Given the description of an element on the screen output the (x, y) to click on. 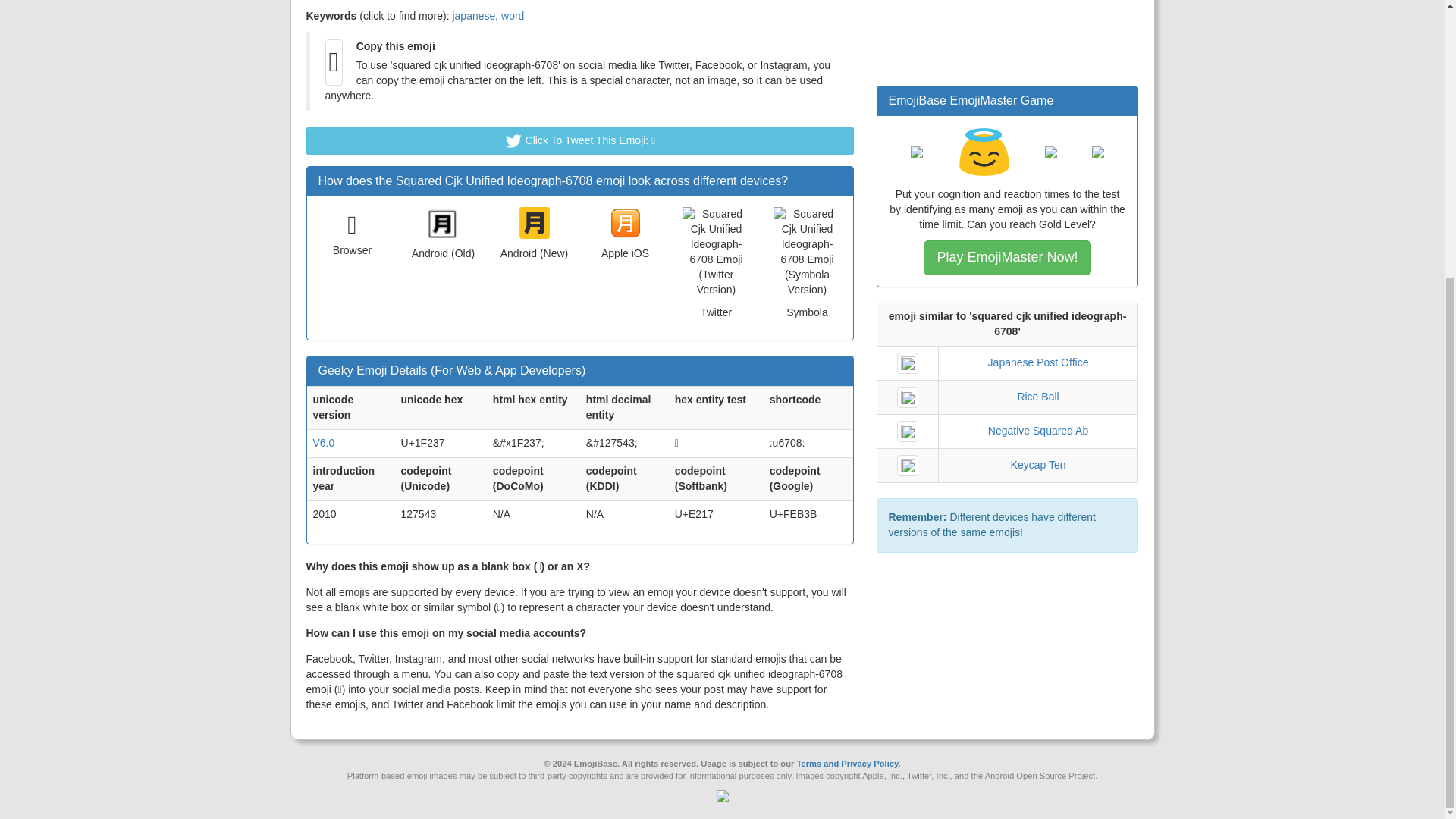
Japanese Post Office (1038, 362)
Negative Squared Ab (1037, 430)
Terms and Privacy Policy (847, 762)
V6.0 (323, 442)
Play EmojiMaster Now! (1006, 257)
word (512, 15)
Rice Ball (1037, 396)
japanese (473, 15)
Keycap Ten (1037, 464)
